Given the description of an element on the screen output the (x, y) to click on. 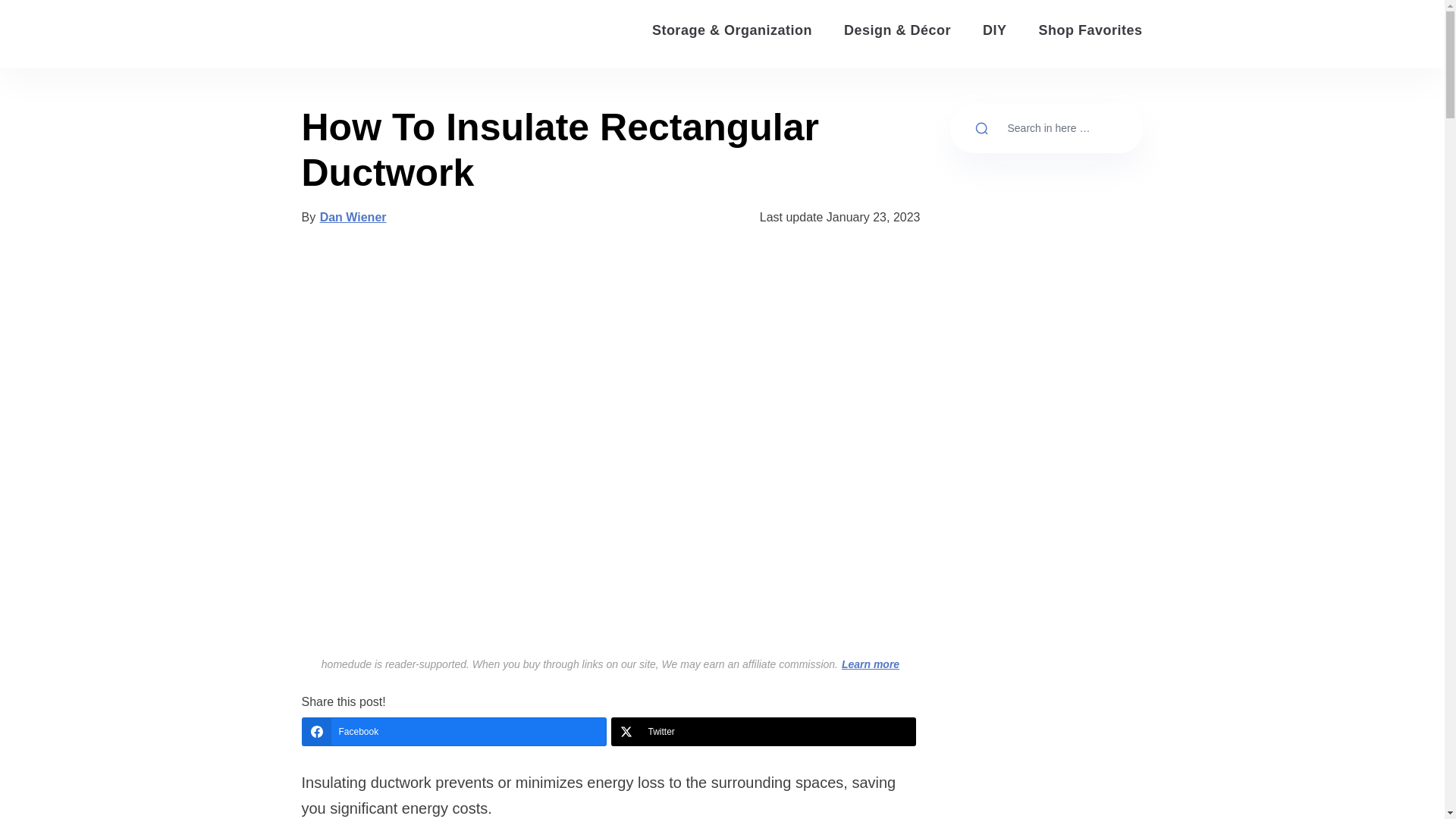
Twitter (763, 731)
DIY (994, 30)
Learn more (870, 663)
Shop Favorites (1089, 30)
Facebook (454, 731)
Dan Wiener (352, 216)
